Given the description of an element on the screen output the (x, y) to click on. 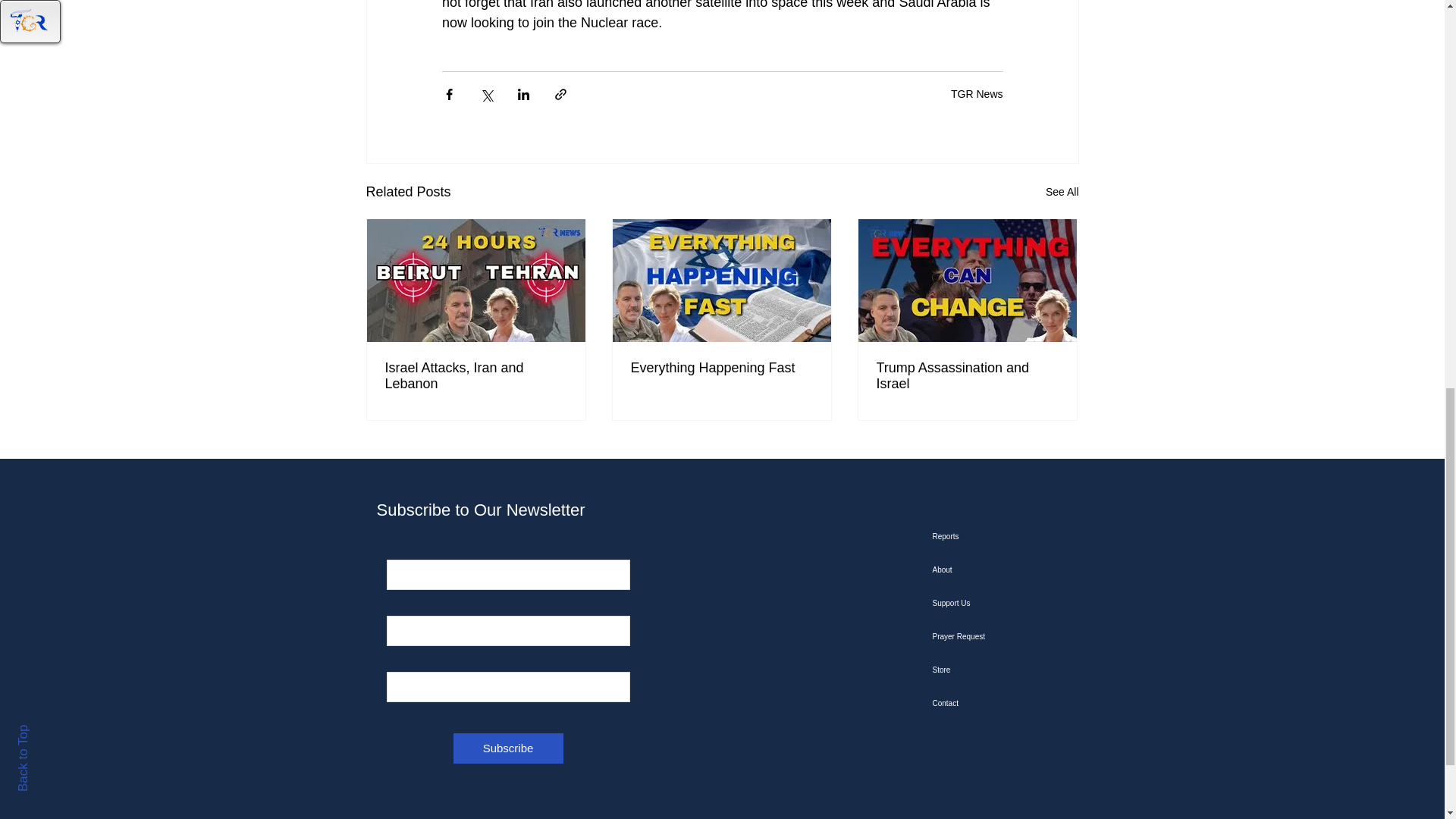
See All (1061, 191)
TGR News (976, 93)
Trump Assassination and Israel (967, 376)
Everything Happening Fast (721, 367)
Israel Attacks, Iran and Lebanon (476, 376)
Reports (1009, 536)
Subscribe (507, 748)
